Given the description of an element on the screen output the (x, y) to click on. 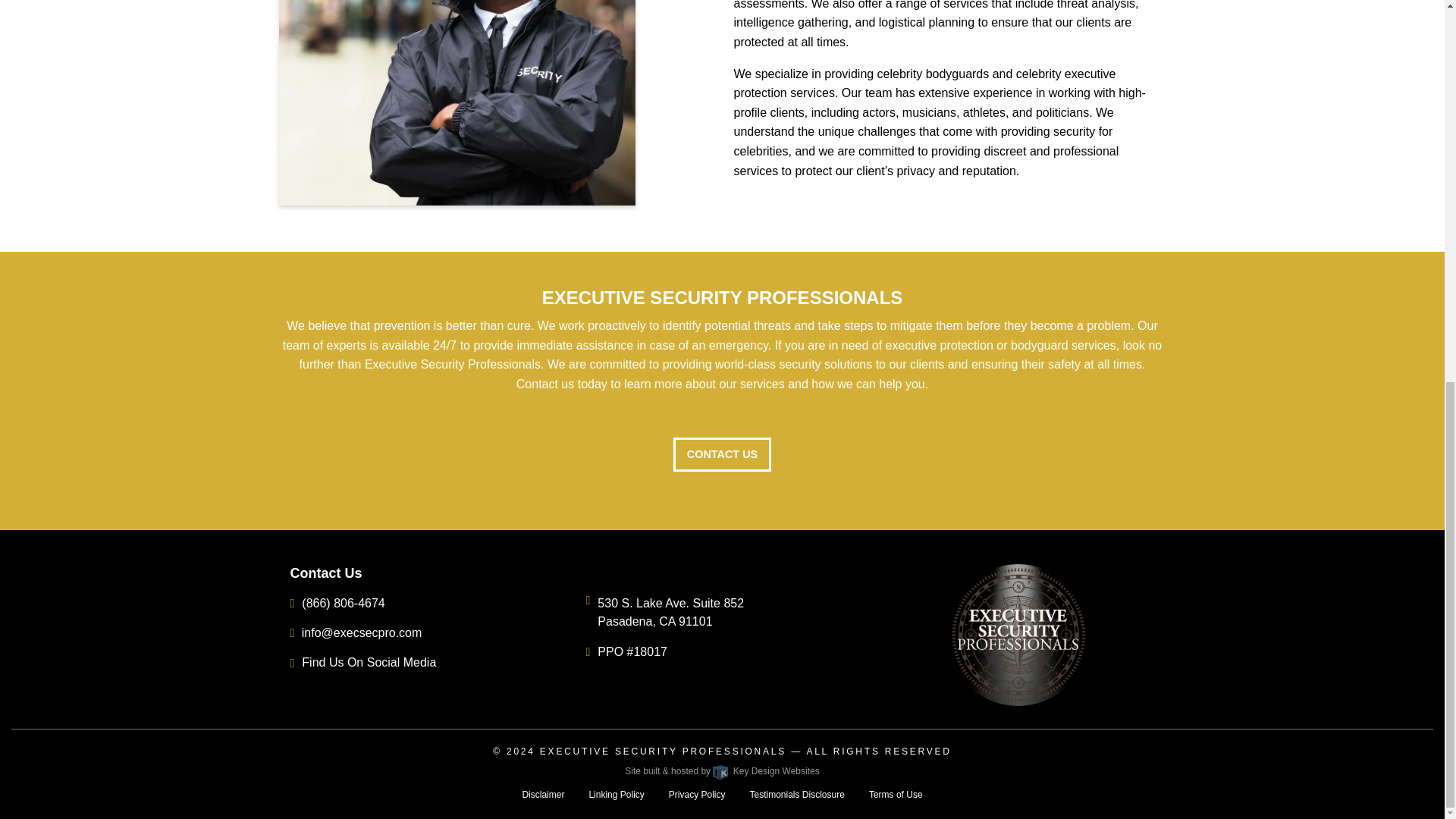
Testimonials Disclosure (796, 794)
instagram (291, 662)
Linking Policy (616, 794)
Disclaimer (542, 794)
CONTACT US (721, 454)
Instagram (291, 662)
Terms of Use (895, 794)
Site by Key Design Websites (721, 770)
EXECUTIVE SECURITY PROFESSIONALS (663, 751)
Privacy Policy (697, 794)
